Given the description of an element on the screen output the (x, y) to click on. 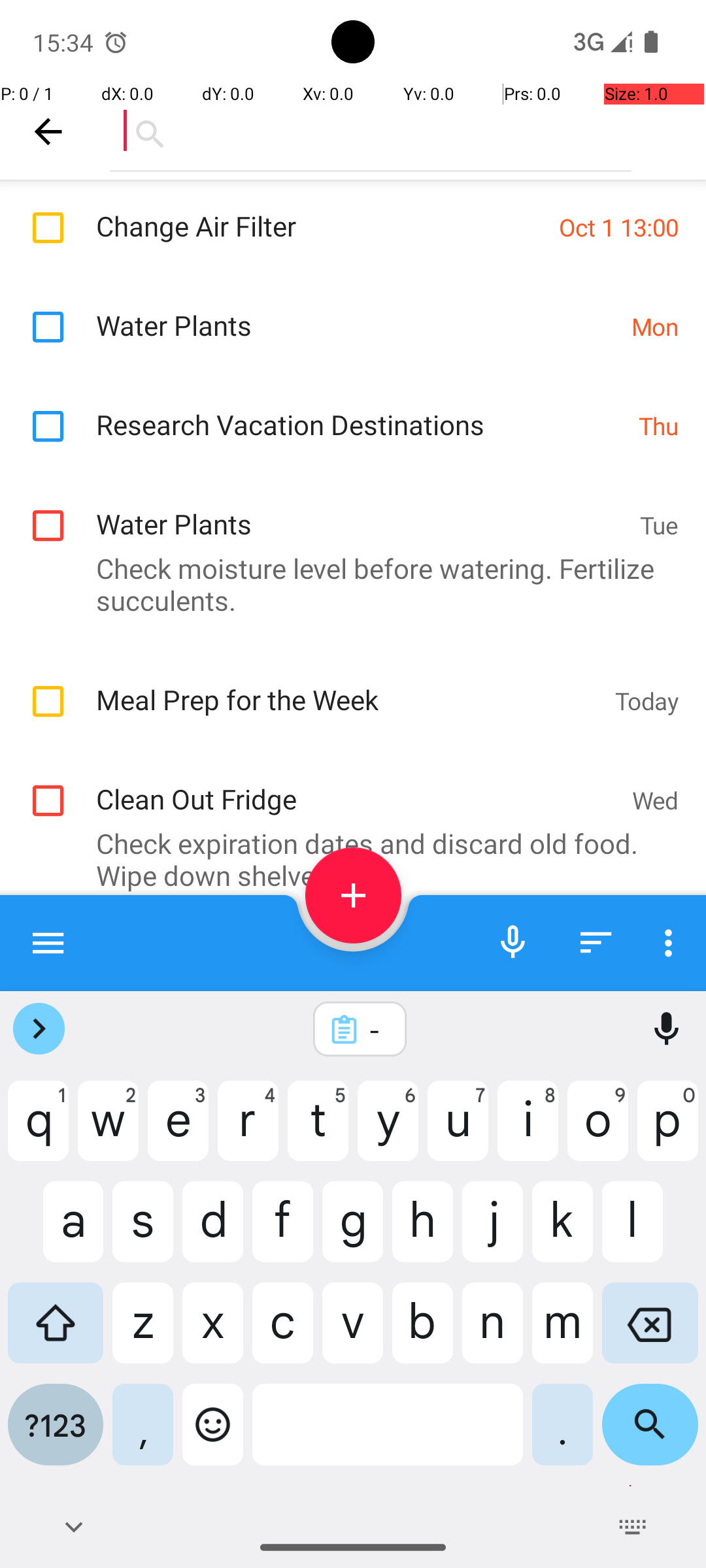
    Element type: android.widget.AutoCompleteTextView (370, 130)
Oct 1 13:00 Element type: android.widget.TextView (618, 226)
